Given the description of an element on the screen output the (x, y) to click on. 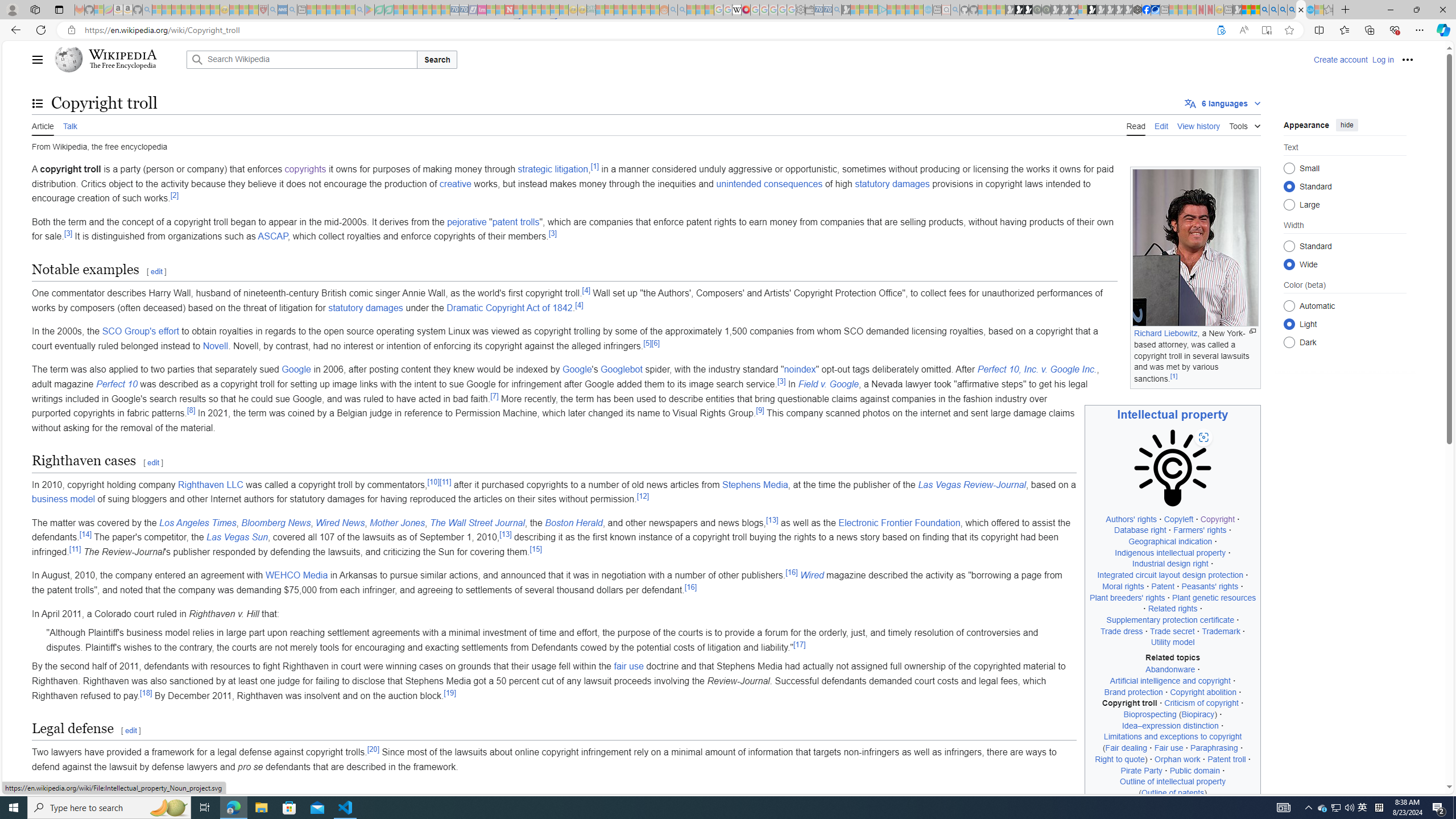
Outline of intellectual property (1172, 781)
[12] (642, 495)
MSN - Sleeping (1236, 9)
[7] (494, 395)
[10] (432, 481)
2009 Bing officially replaced Live Search on June 3 - Search (1272, 9)
Copyleft (1178, 519)
The Free Encyclopedia (121, 65)
(Biopiracy) (1197, 714)
[9] (759, 409)
Edit (1161, 124)
Favorites - Sleeping (1328, 9)
